Given the description of an element on the screen output the (x, y) to click on. 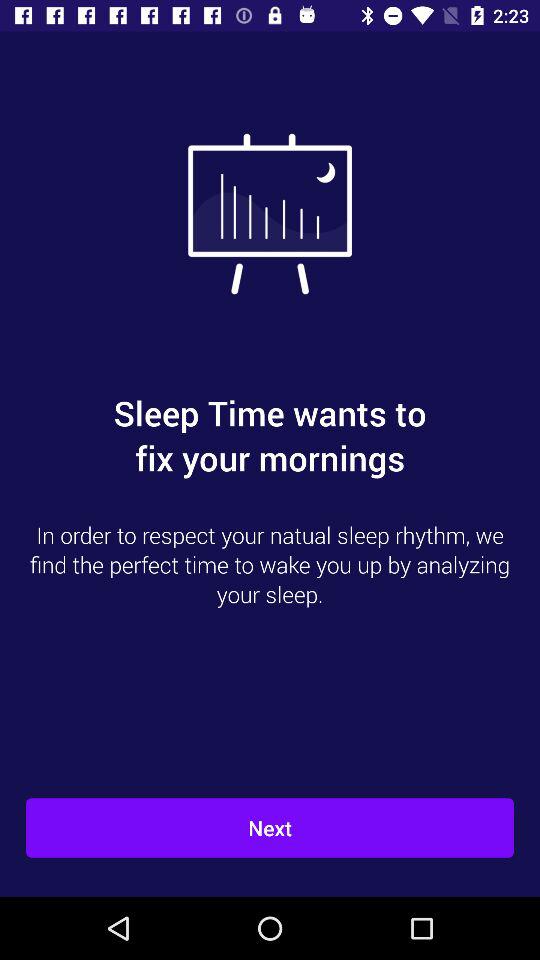
scroll to next item (269, 827)
